Given the description of an element on the screen output the (x, y) to click on. 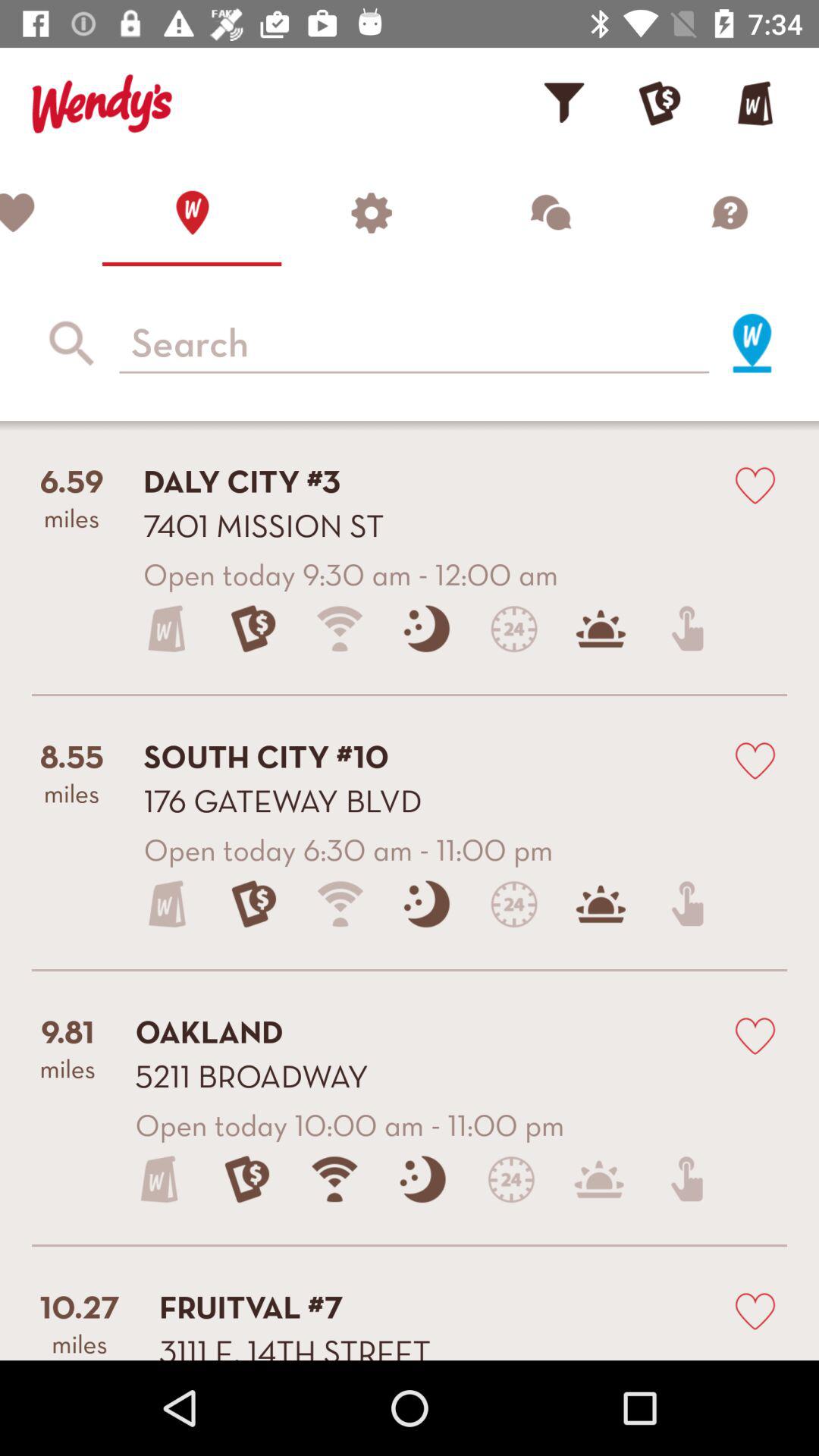
choose to love this (755, 1035)
